Given the description of an element on the screen output the (x, y) to click on. 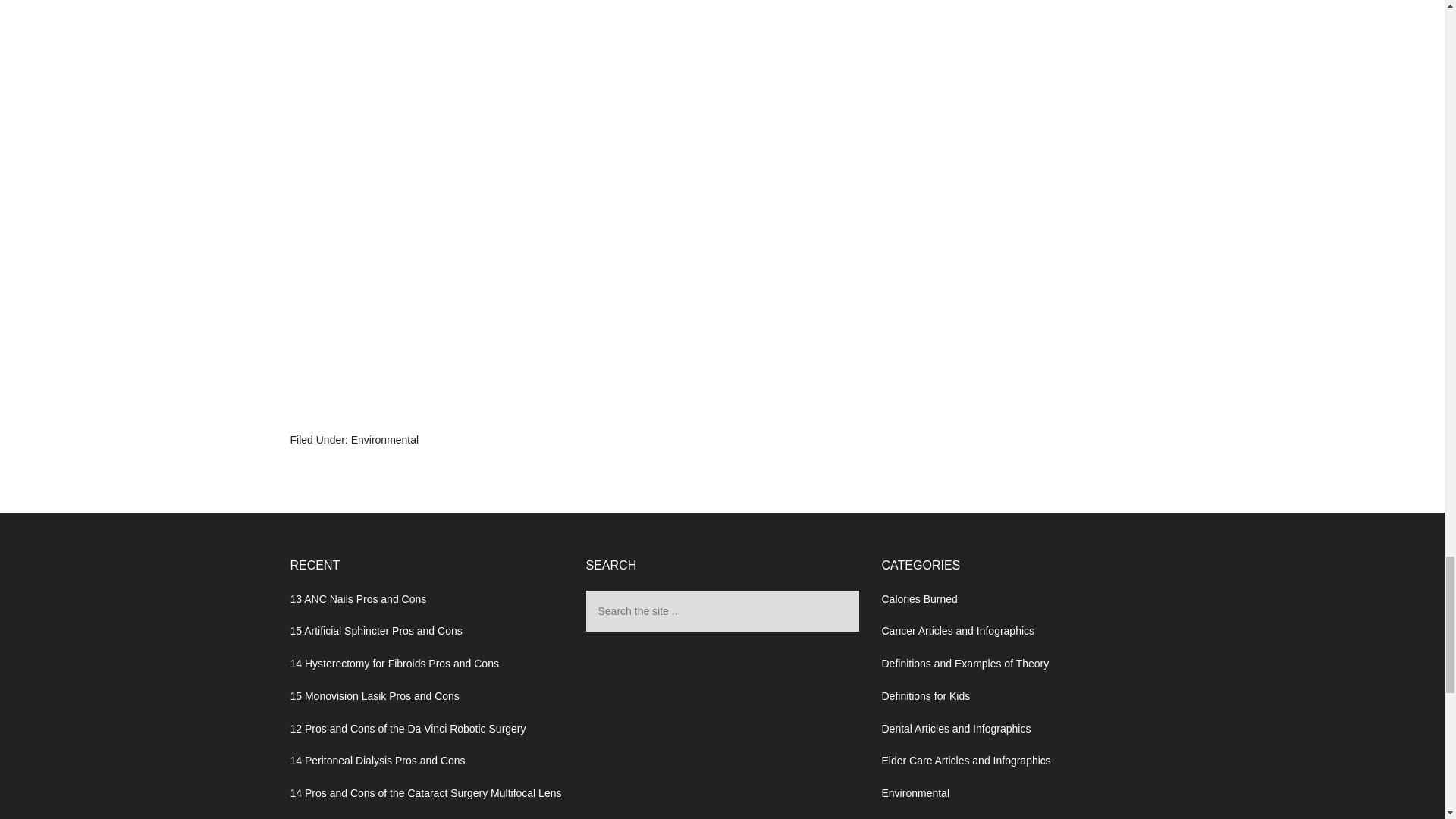
Environmental (914, 793)
Definitions and Examples of Theory (964, 663)
Dental Articles and Infographics (955, 728)
Environmental (384, 439)
Elder Care Articles and Infographics (964, 760)
Calories Burned (918, 598)
13 ANC Nails Pros and Cons (357, 598)
14 Peritoneal Dialysis Pros and Cons (376, 760)
